Given the description of an element on the screen output the (x, y) to click on. 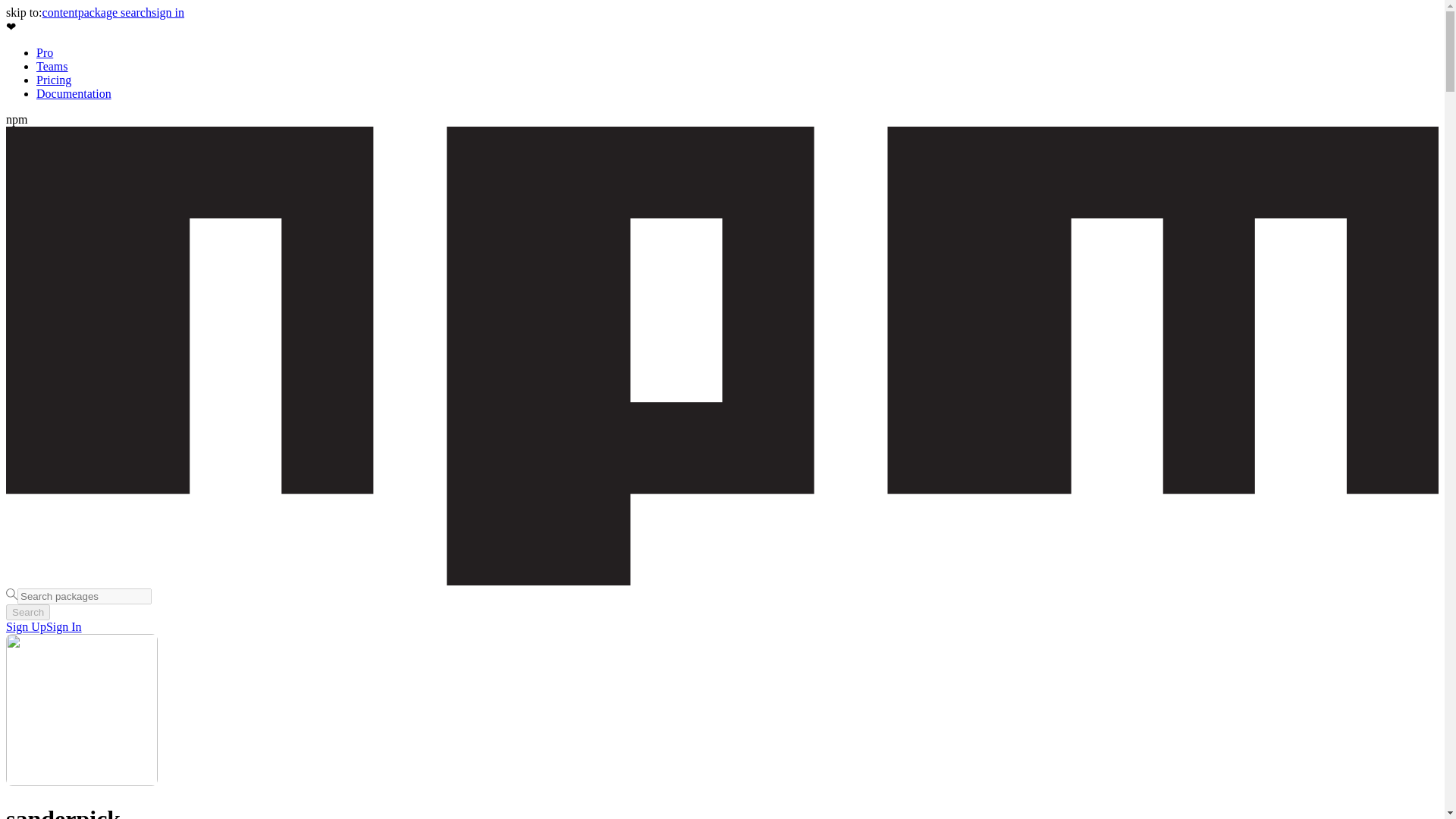
Sign In (63, 626)
Pricing (53, 79)
sign in (167, 11)
package search (114, 11)
Teams (52, 65)
content (60, 11)
Documentation (74, 92)
Search (27, 611)
Pro (44, 51)
Sign Up (25, 626)
